Given the description of an element on the screen output the (x, y) to click on. 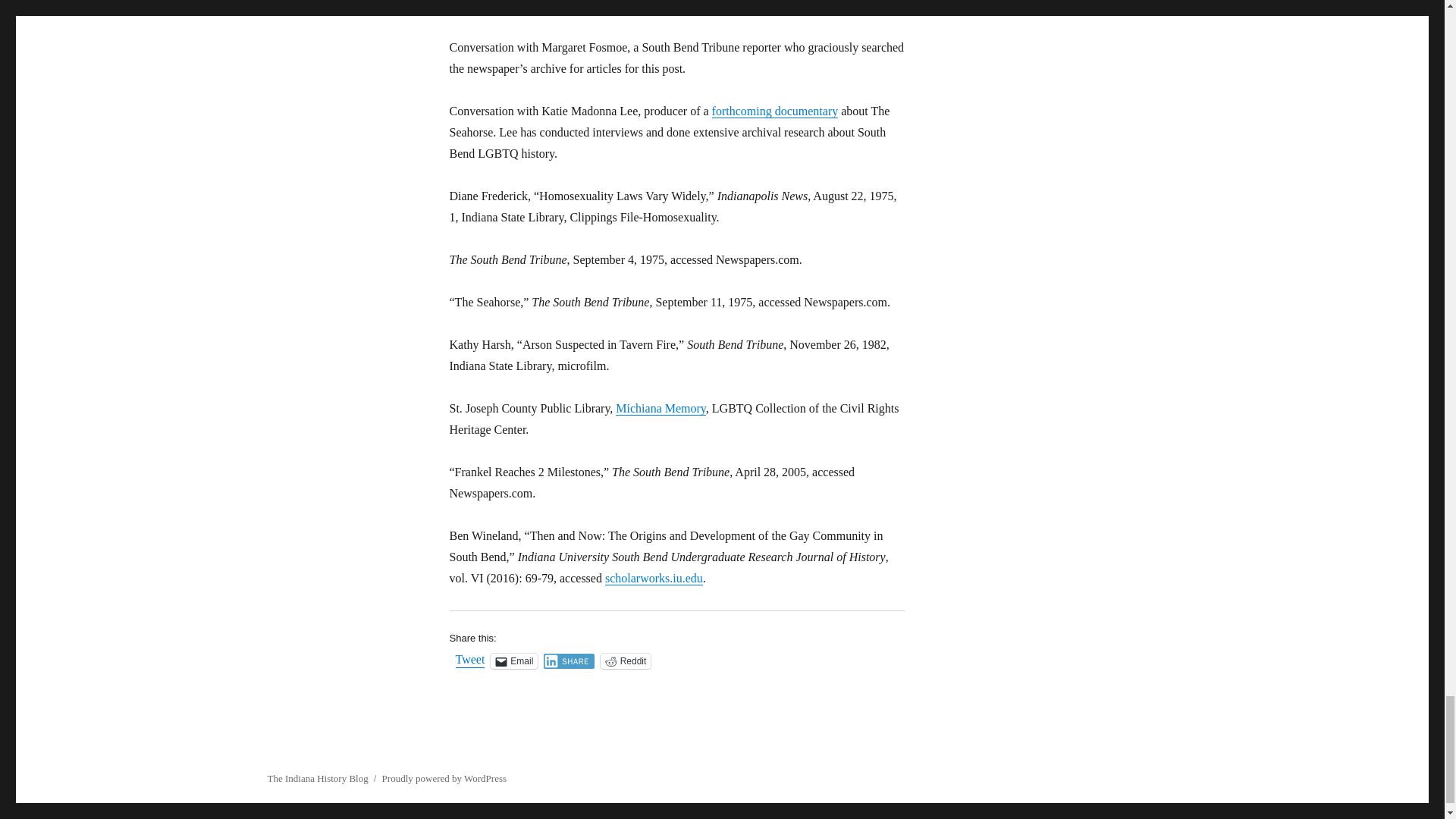
Click to email a link to a friend (513, 661)
forthcoming documentary (774, 110)
Email (513, 661)
Reddit (624, 661)
SHARE (568, 661)
Tweet (469, 660)
Click to share on Reddit (624, 661)
Michiana Memory (659, 408)
scholarworks.iu.edu (654, 577)
